Given the description of an element on the screen output the (x, y) to click on. 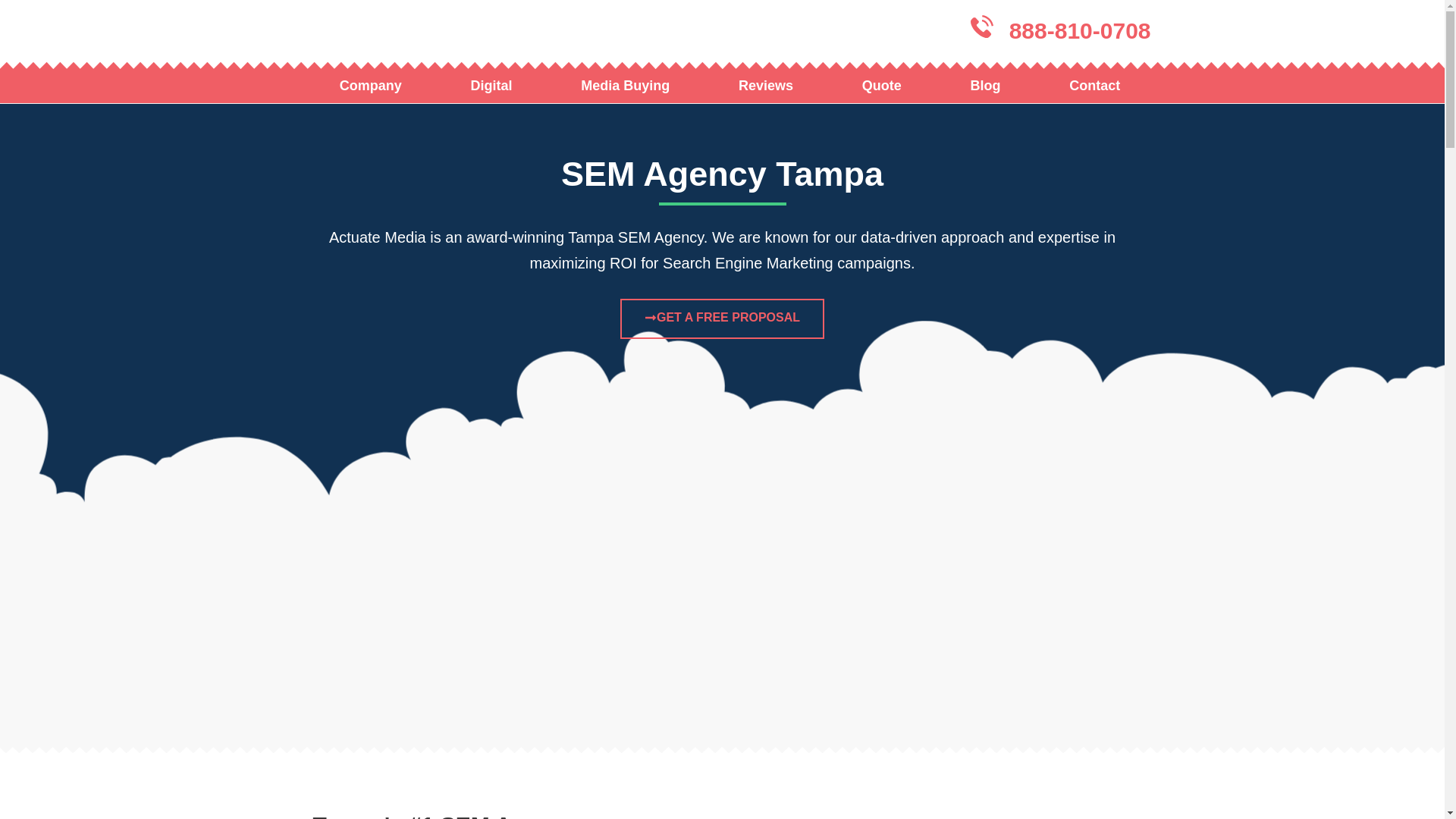
888-810-0708 (1080, 30)
SEM Agency Tampa 5 (1070, 628)
SEM Agency Tampa 2 (547, 625)
Blog (985, 85)
Contact (1094, 85)
SEM Agency Tampa 4 (896, 632)
Company (369, 85)
SEM Agency Tampa 1 (373, 627)
Media Buying (625, 85)
Quote (881, 85)
